Given the description of an element on the screen output the (x, y) to click on. 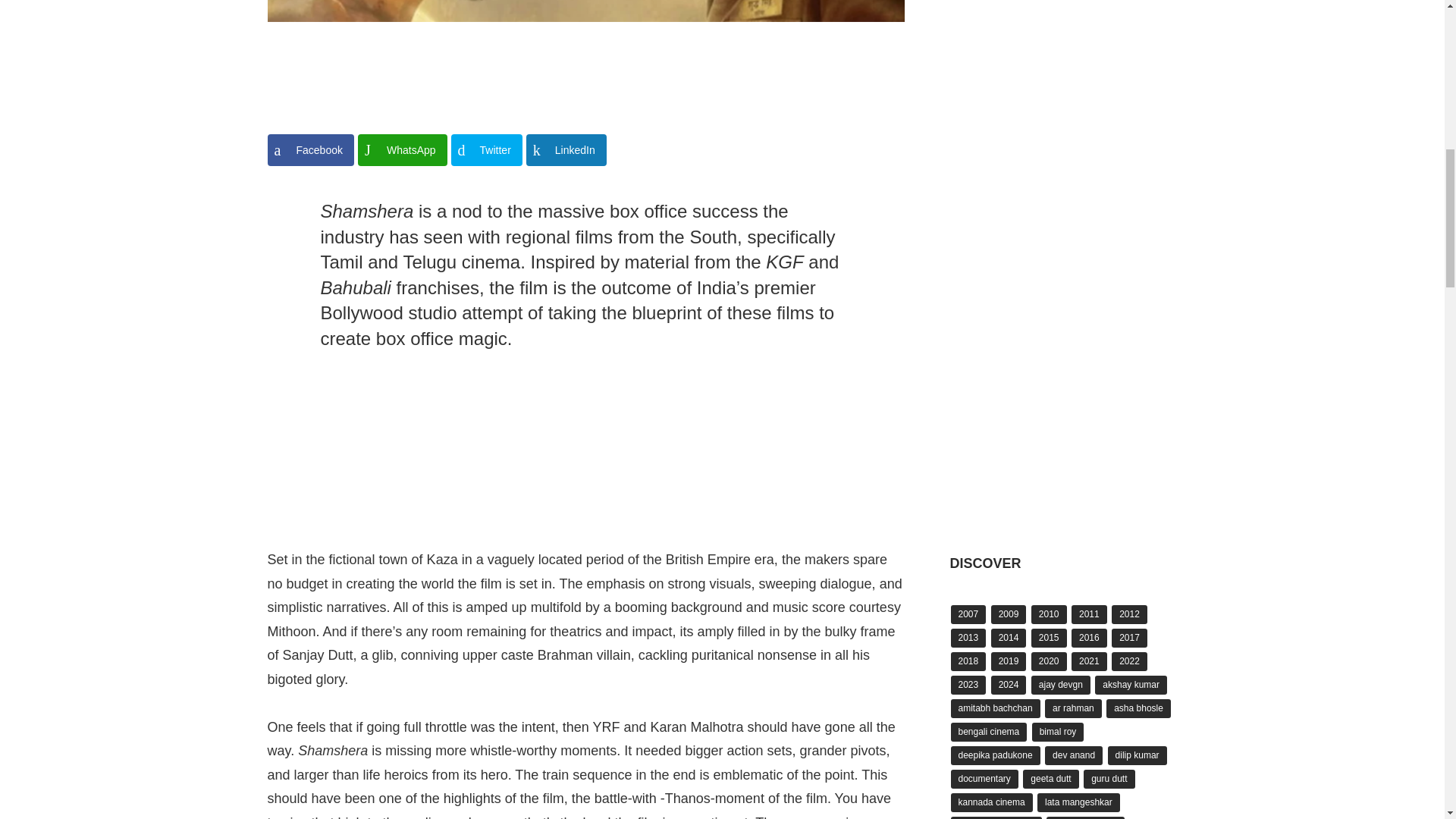
LinkedIn (566, 150)
Share on LinkedIn (566, 150)
Share on Twitter (486, 150)
Twitter (486, 150)
Share on WhatsApp (402, 150)
WhatsApp (402, 150)
Share on Facebook (309, 150)
Facebook (309, 150)
